Given the description of an element on the screen output the (x, y) to click on. 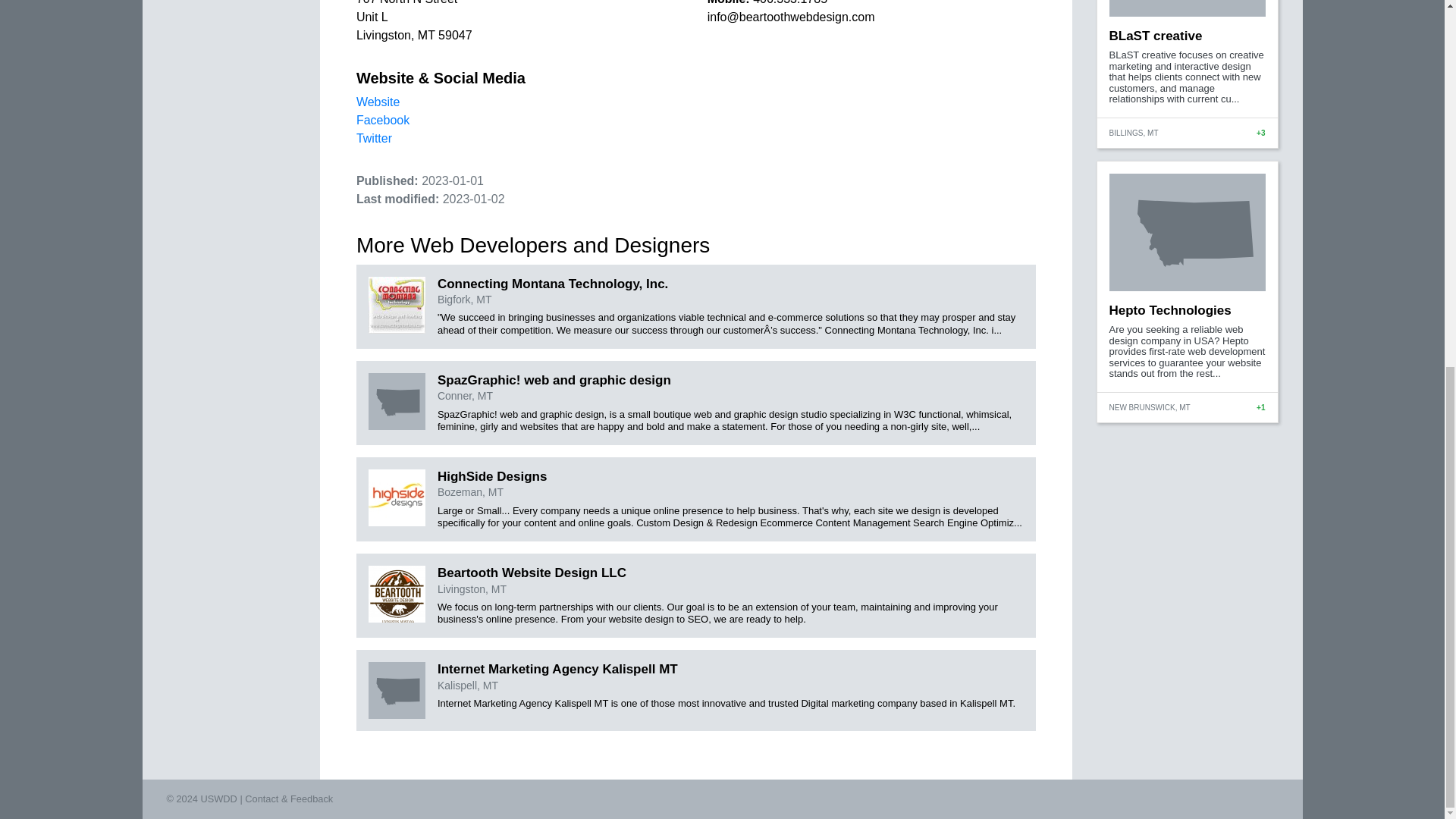
Beartooth Website Design LLC (532, 572)
Website (378, 101)
SpazGraphic! web and graphic design (554, 380)
406.333.1785 (789, 2)
Connecting Montana Technology, Inc. (553, 283)
BLaST creative (1155, 35)
HighSide Designs (492, 476)
Twitter (373, 137)
Facebook (382, 119)
Internet Marketing Agency Kalispell MT (558, 668)
